Given the description of an element on the screen output the (x, y) to click on. 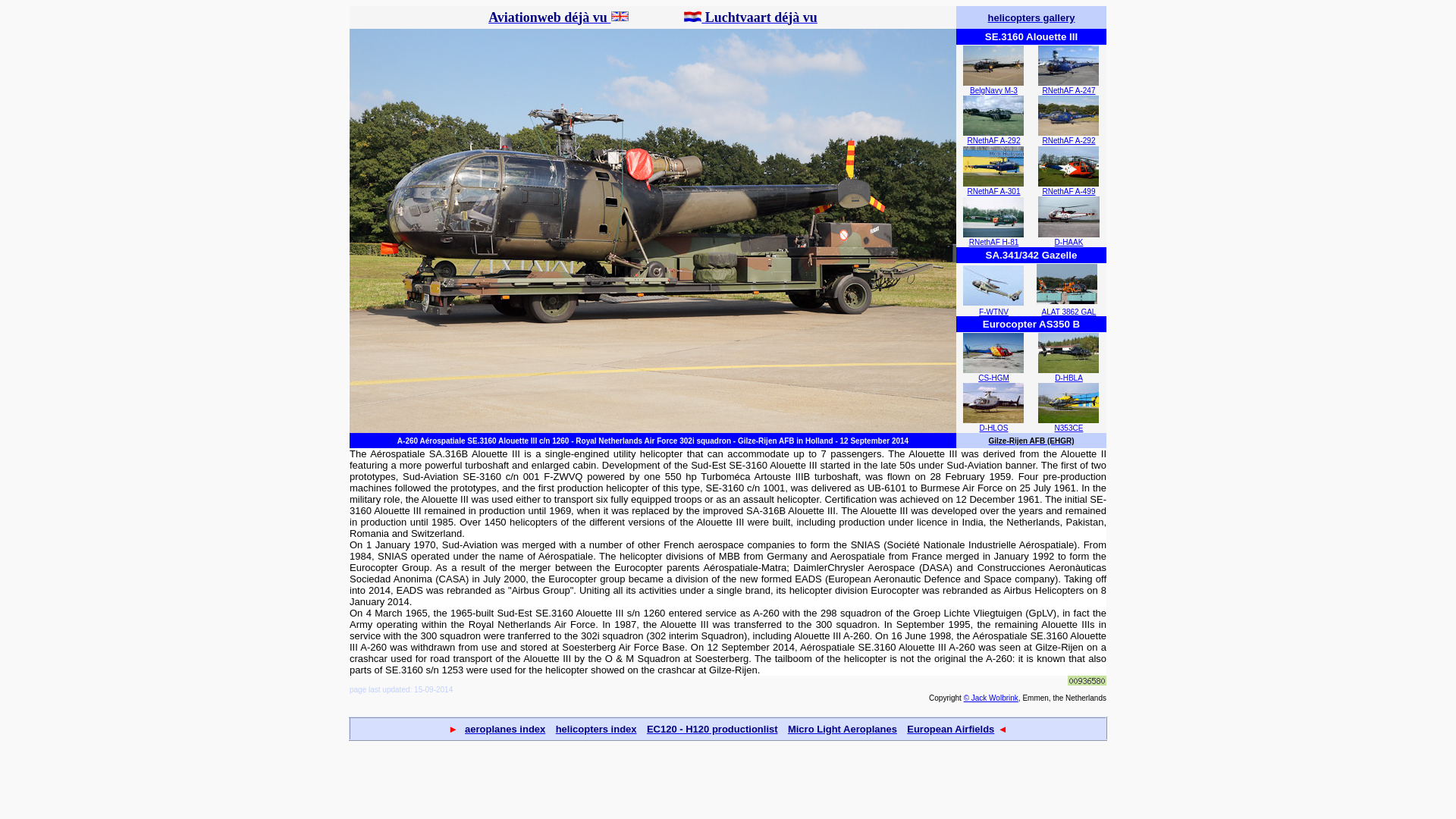
aeroplanes index (504, 727)
BelgNavy M-3 (993, 90)
D-HBLA (1068, 377)
Micro Light Aeroplanes (841, 727)
EC120 - H120 productionlist (711, 727)
RNethAF A-247 (1068, 90)
RNethAF A-301 (993, 191)
helicopters gallery (1031, 16)
D-HLOS (994, 428)
CS-HGM (993, 377)
